Given the description of an element on the screen output the (x, y) to click on. 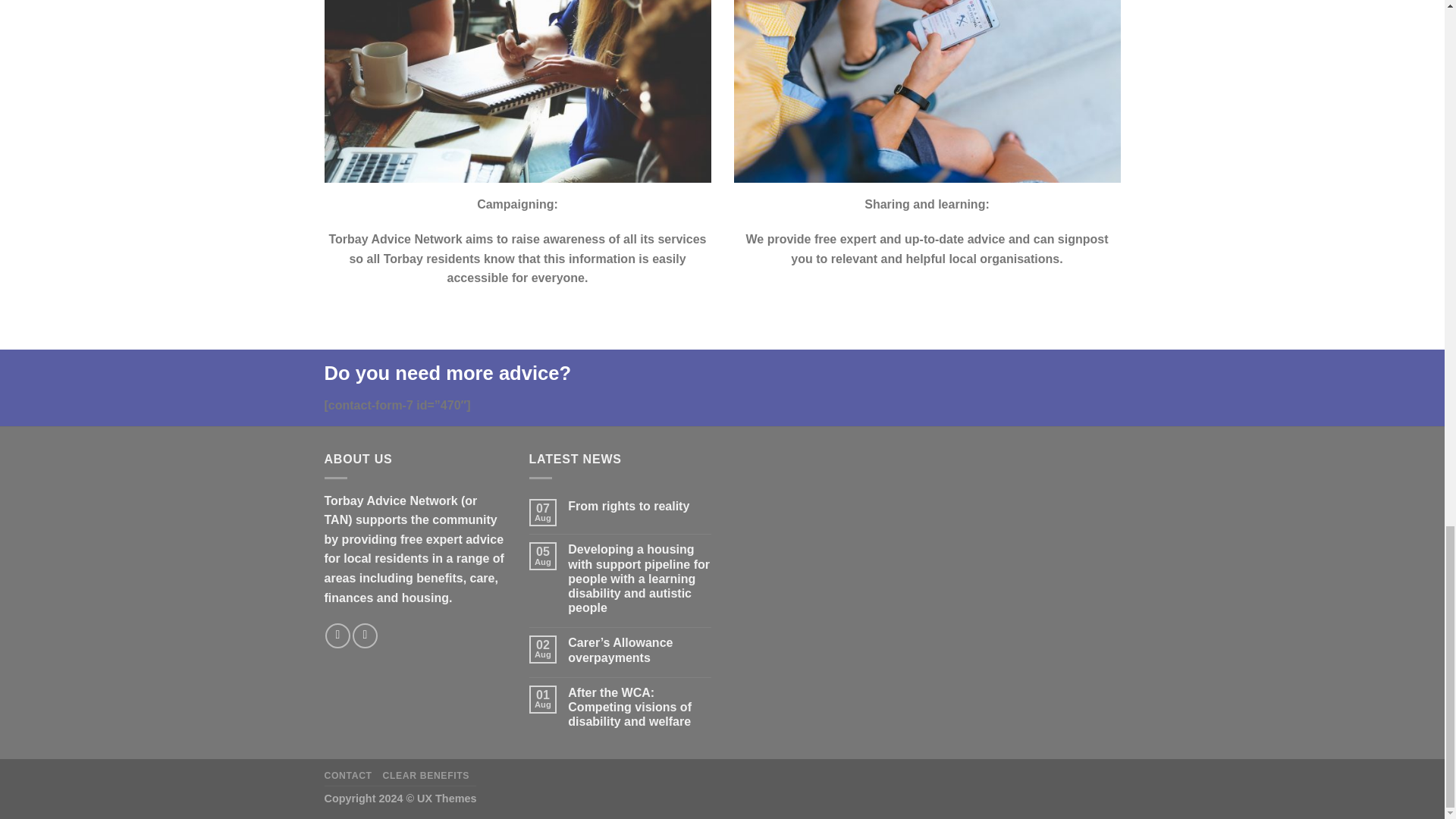
From rights to reality (638, 505)
CLEAR BENEFITS (424, 775)
After the WCA: Competing visions of disability and welfare (638, 707)
From rights to reality (638, 505)
After the WCA: Competing visions of disability and welfare (638, 707)
CONTACT (348, 775)
